Given the description of an element on the screen output the (x, y) to click on. 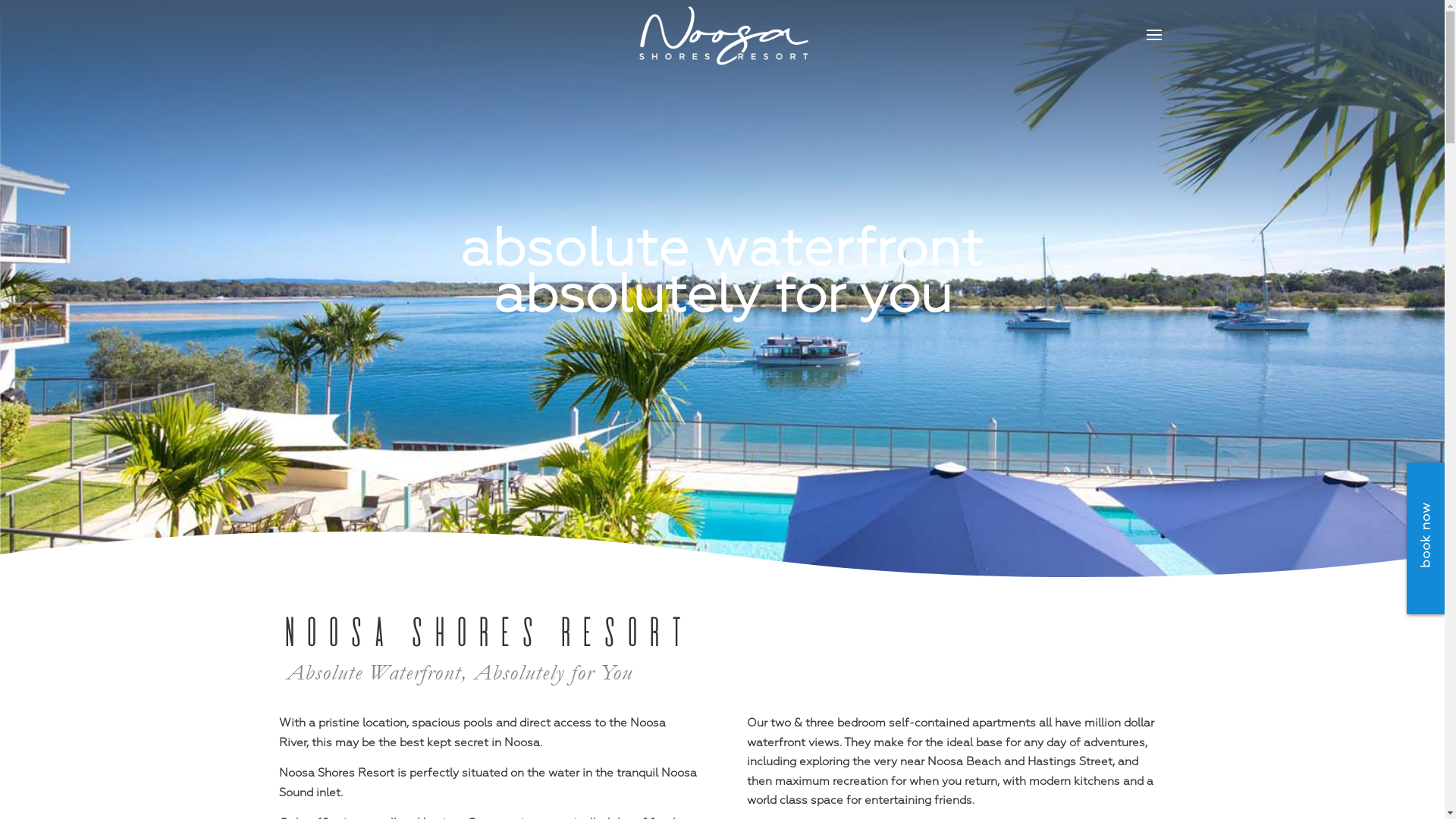
Book Now Element type: text (1227, 378)
